Given the description of an element on the screen output the (x, y) to click on. 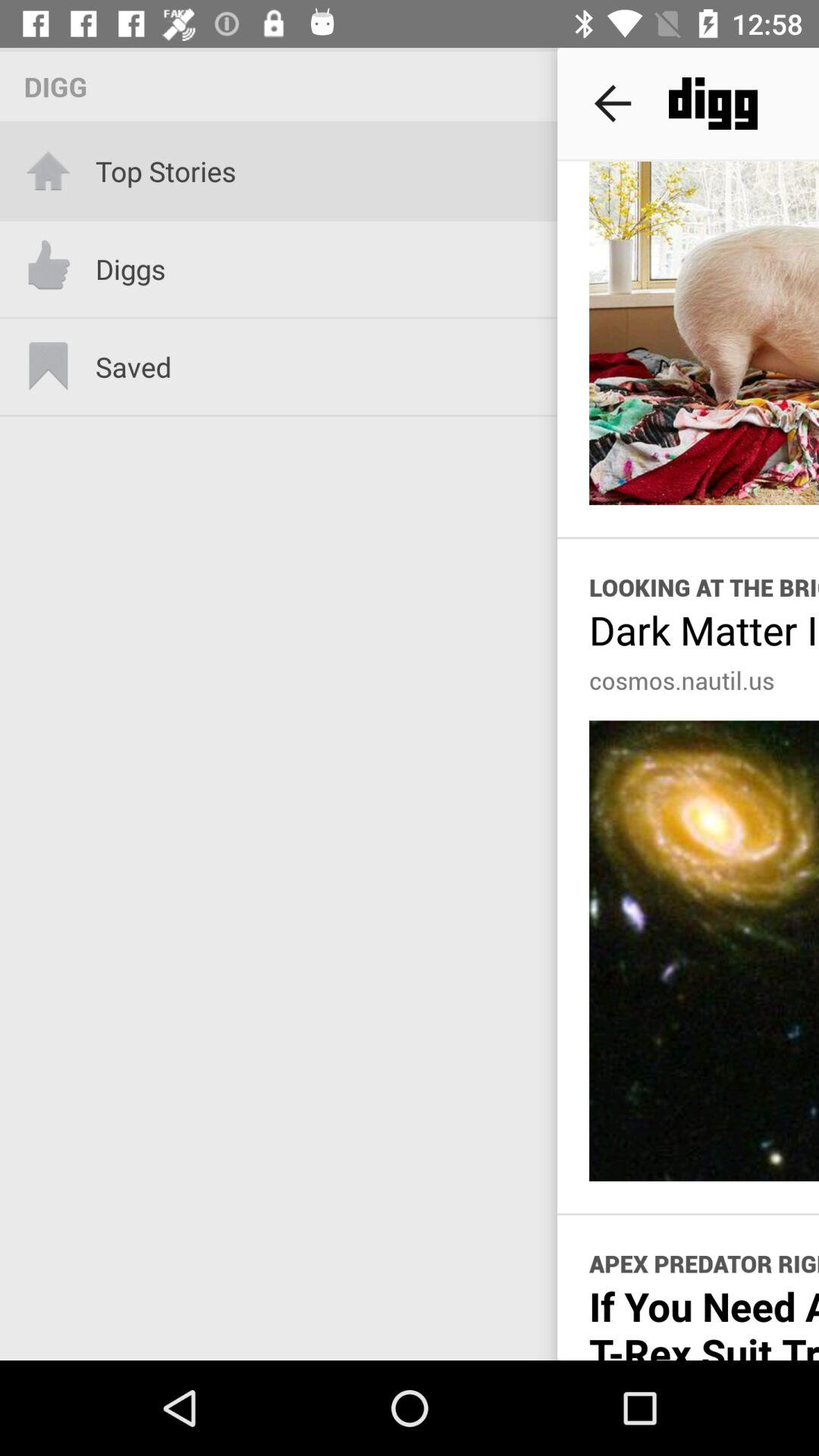
press looking at the item (704, 587)
